Given the description of an element on the screen output the (x, y) to click on. 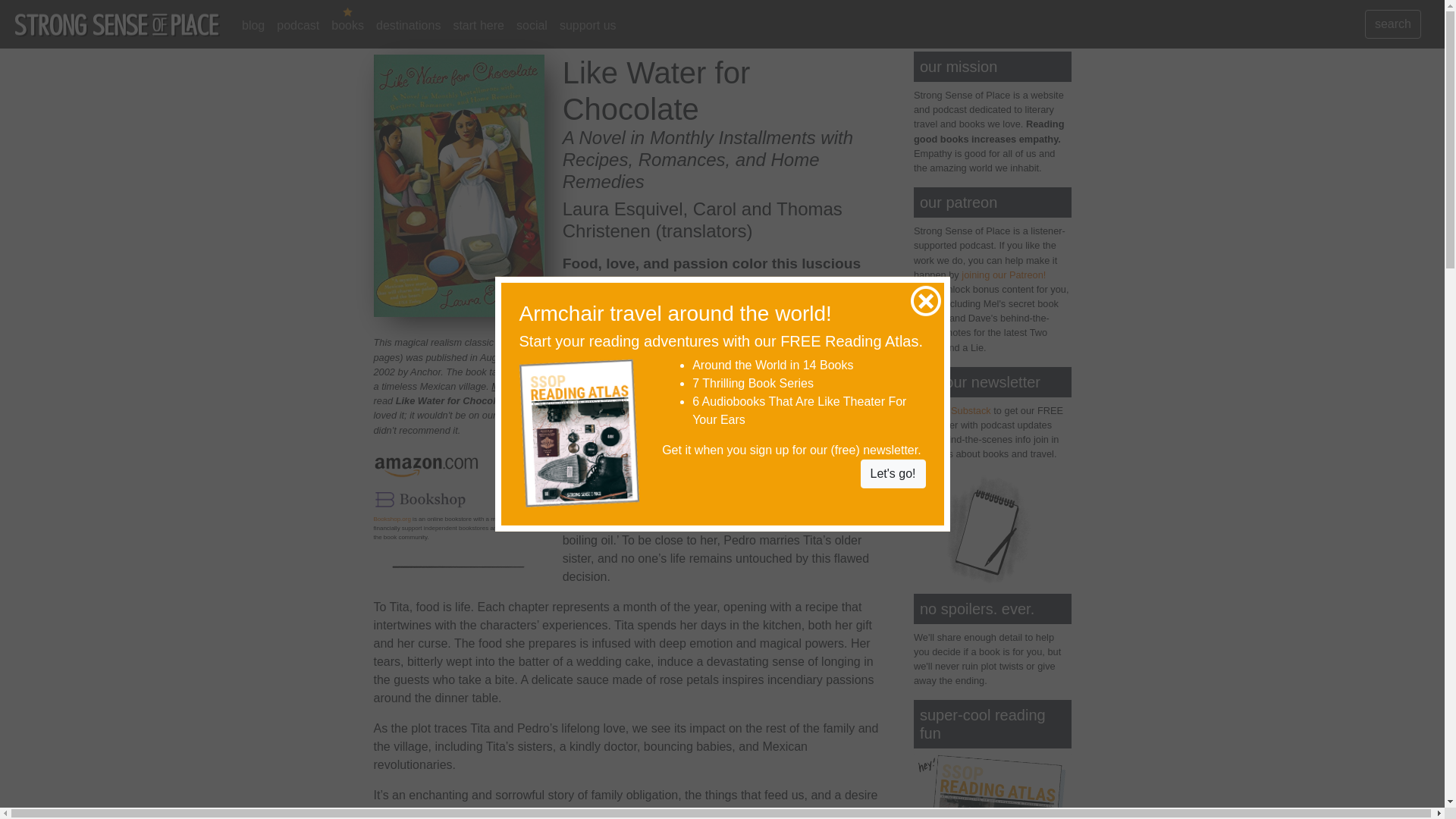
start here (478, 25)
blog (252, 25)
books (346, 25)
podcast (297, 25)
search (1393, 23)
Melissa (508, 386)
support us (588, 25)
buy (513, 499)
destinations (407, 25)
Join our Substack (952, 410)
